Given the description of an element on the screen output the (x, y) to click on. 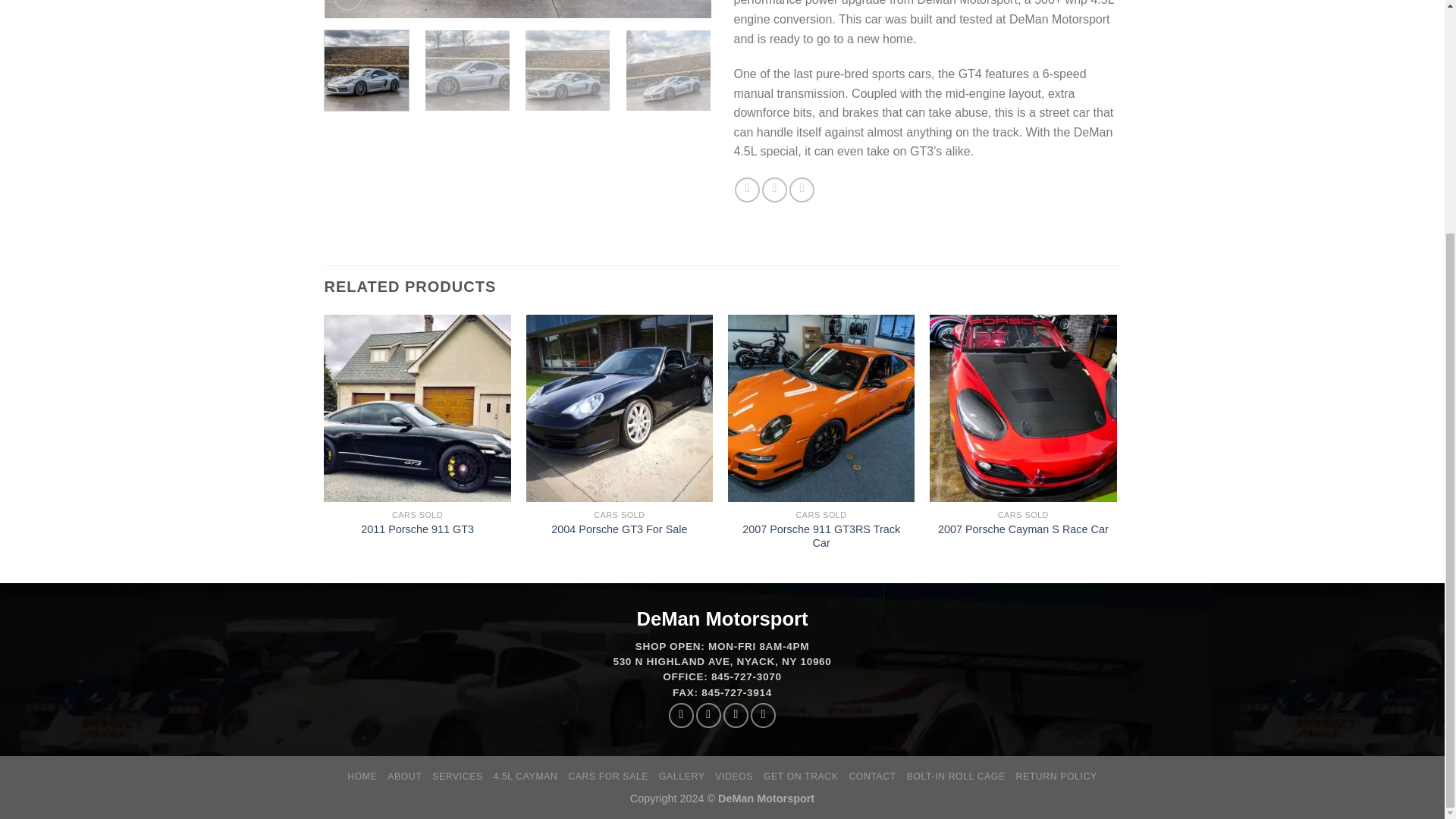
4.5L Porsche GT4 For Sale Silver.Red-2 (517, 9)
